Given the description of an element on the screen output the (x, y) to click on. 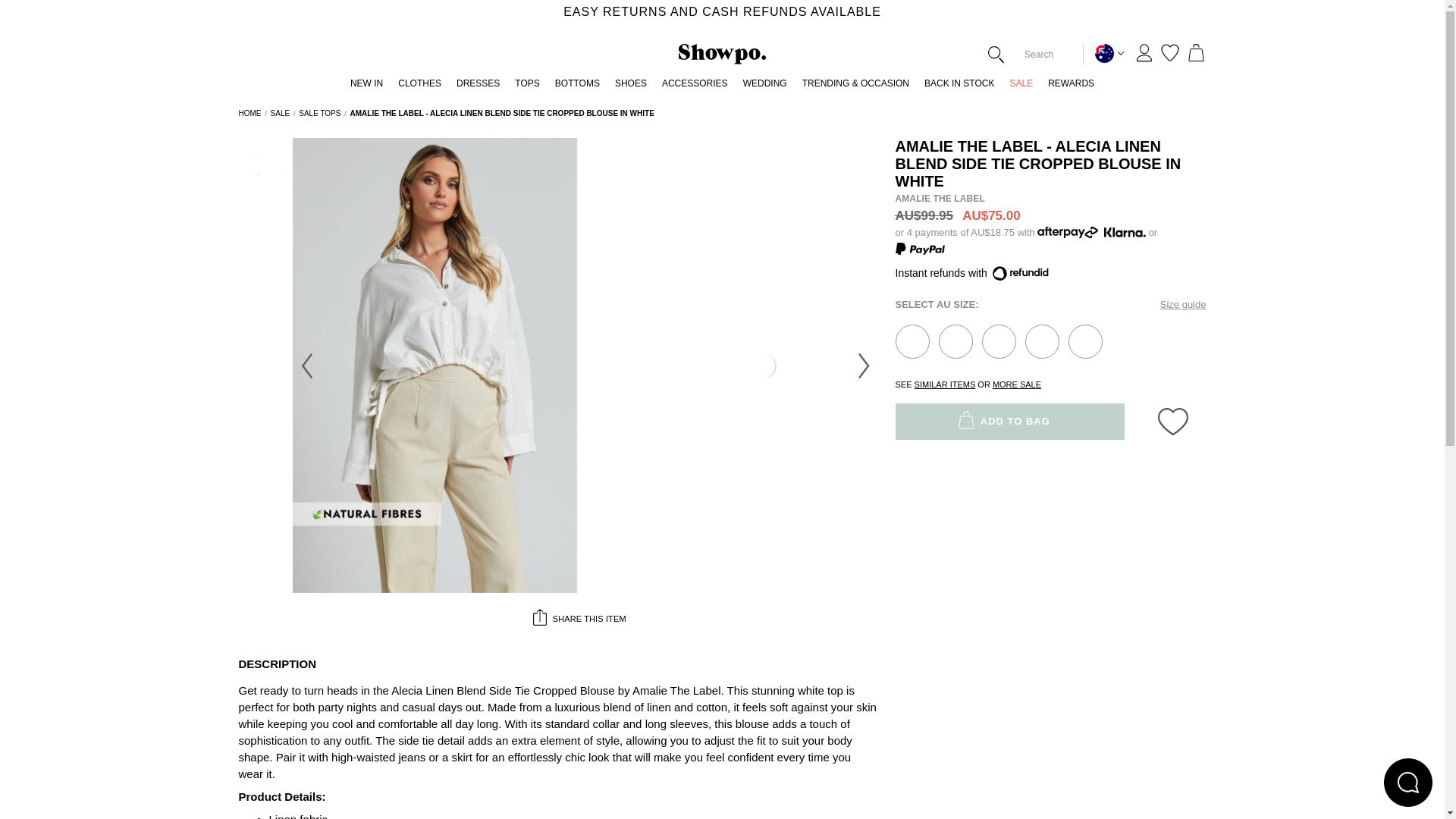
Klarna (1122, 232)
NEW IN (366, 87)
Add to bag (997, 341)
Add to bag (911, 341)
Add to bag (955, 341)
Add to bag (1042, 341)
PayPal (919, 248)
